Given the description of an element on the screen output the (x, y) to click on. 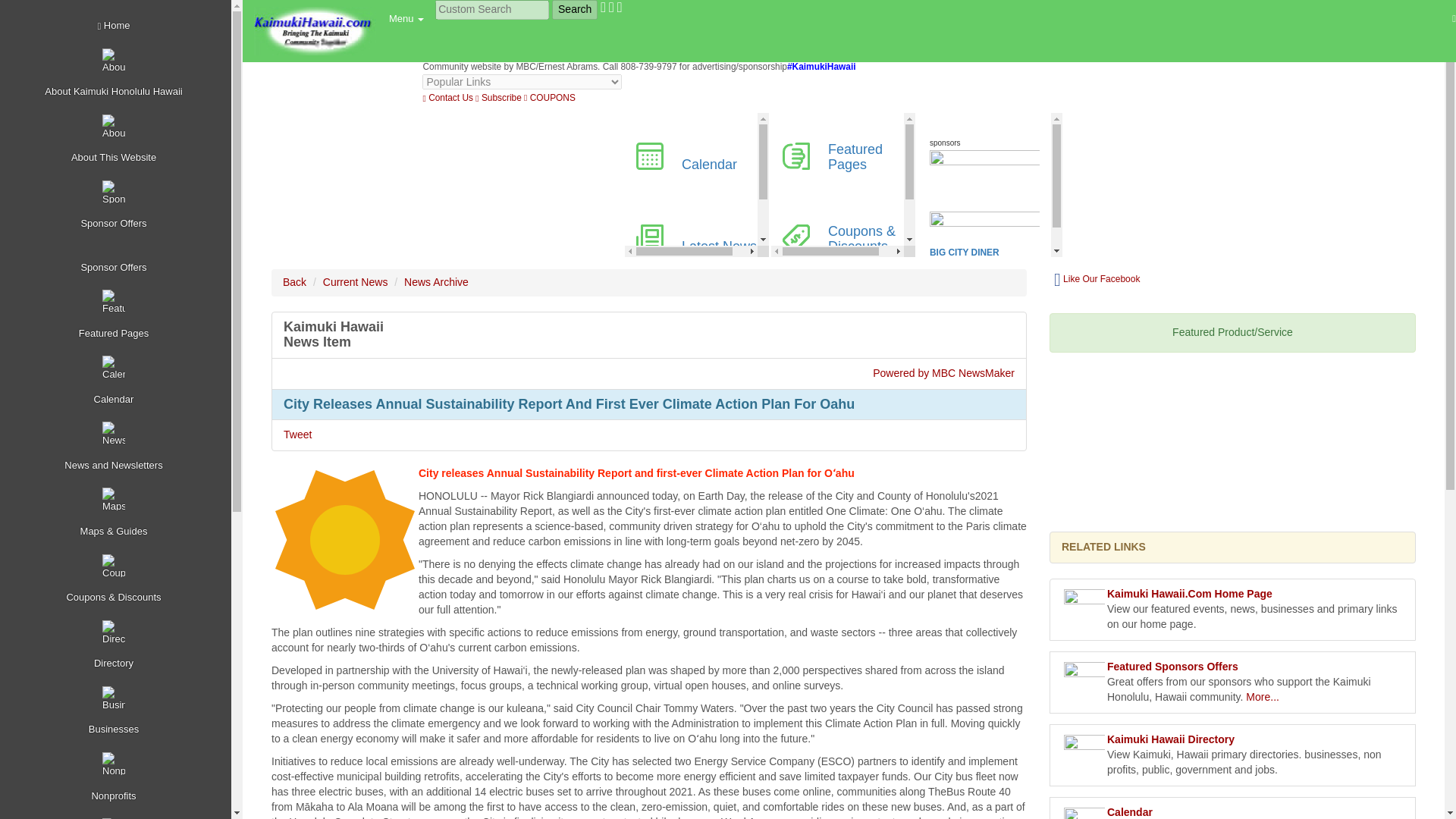
Businesses (117, 711)
About Kaimuki Honolulu Hawaii (117, 73)
Sponsor Offers (117, 260)
Nonprofits (117, 777)
Directory (117, 645)
Sponsor Offers (117, 205)
About This Website (117, 139)
Home (117, 25)
Calendar (117, 381)
Search (573, 9)
